Given the description of an element on the screen output the (x, y) to click on. 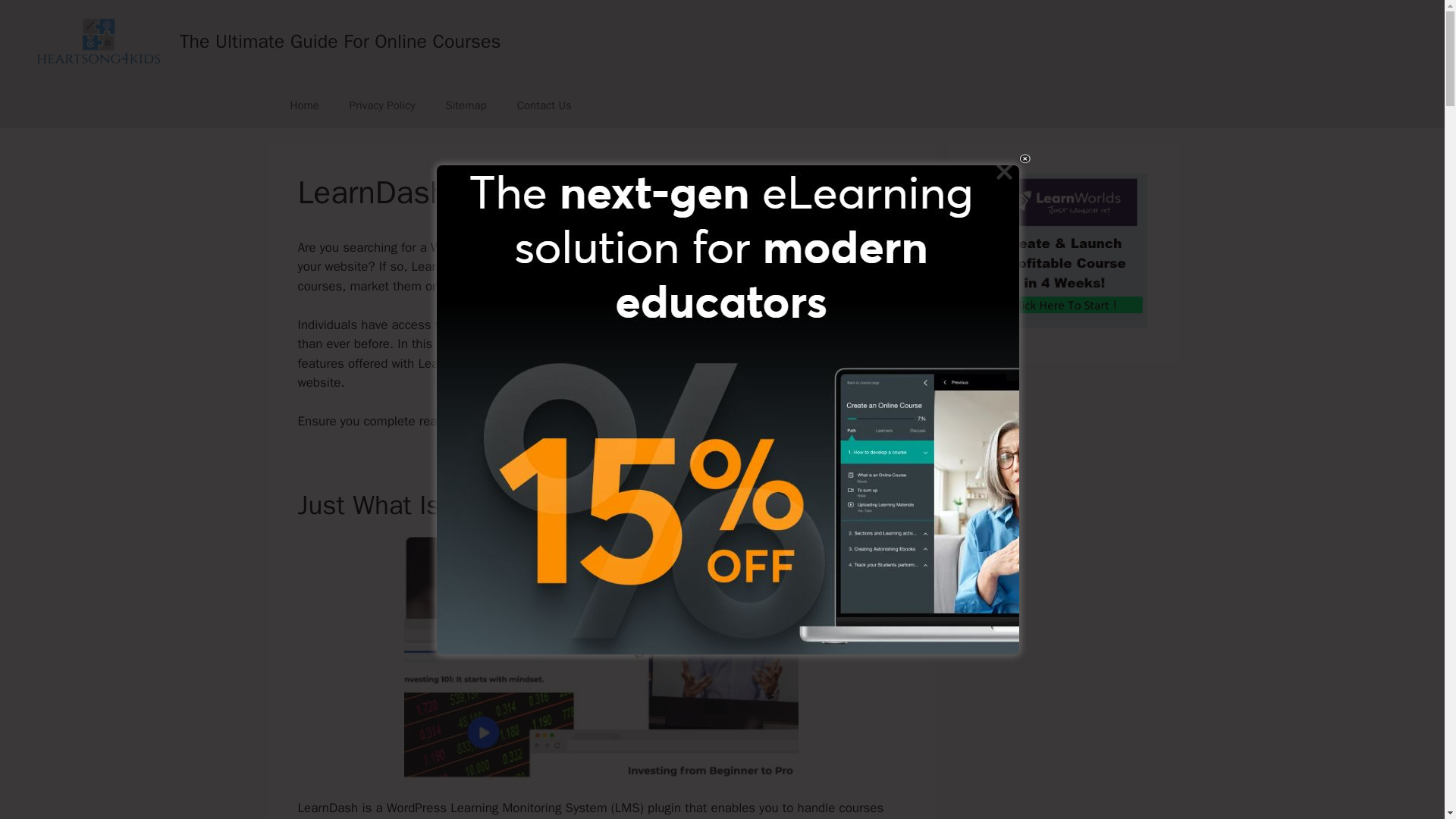
Sitemap (464, 104)
The Ultimate Guide For Online Courses (339, 41)
Home (304, 104)
Contact Us (544, 104)
Privacy Policy (382, 104)
